Given the description of an element on the screen output the (x, y) to click on. 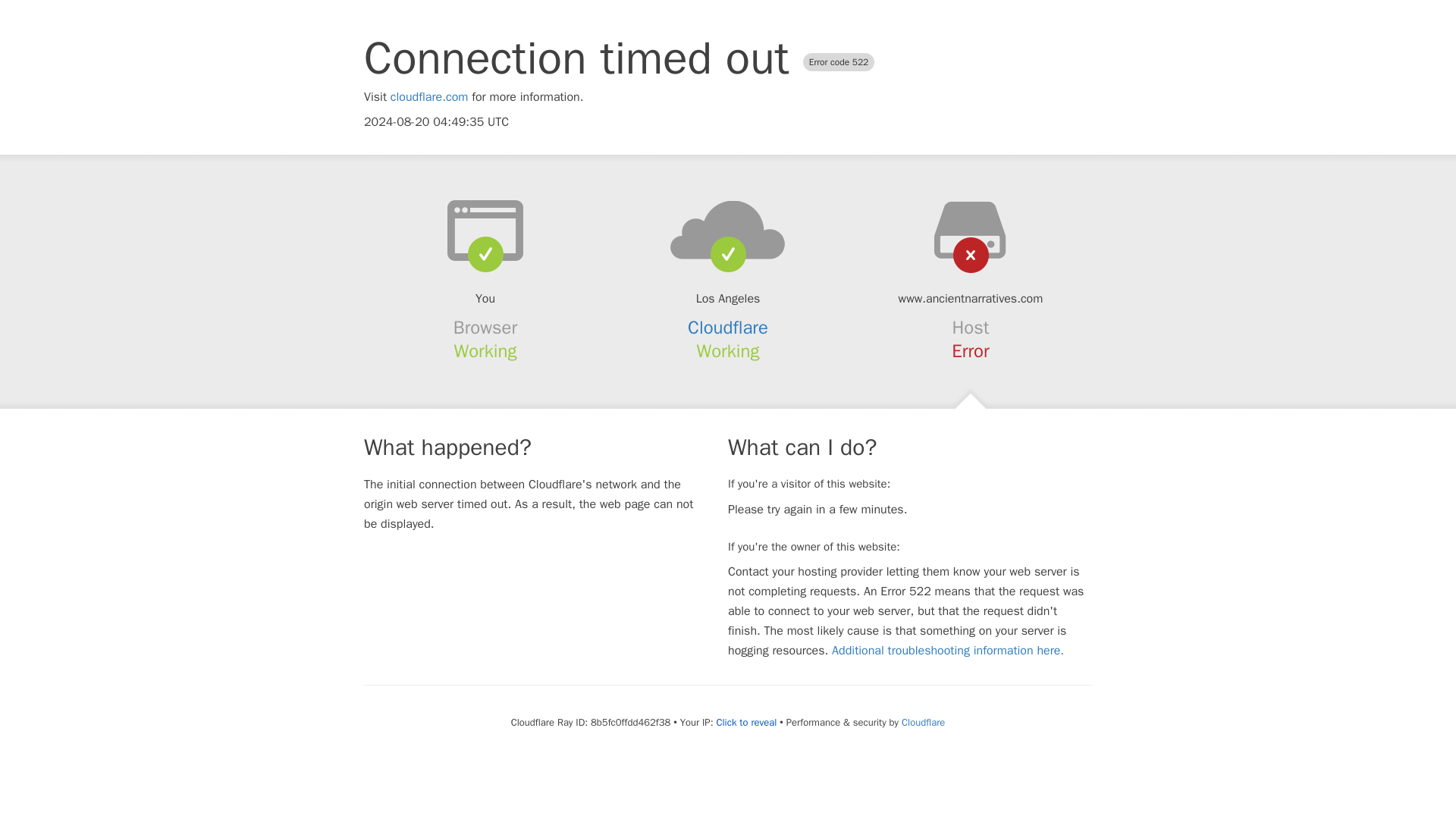
Click to reveal (746, 722)
Additional troubleshooting information here. (947, 650)
Cloudflare (922, 721)
Cloudflare (727, 327)
cloudflare.com (429, 96)
